Given the description of an element on the screen output the (x, y) to click on. 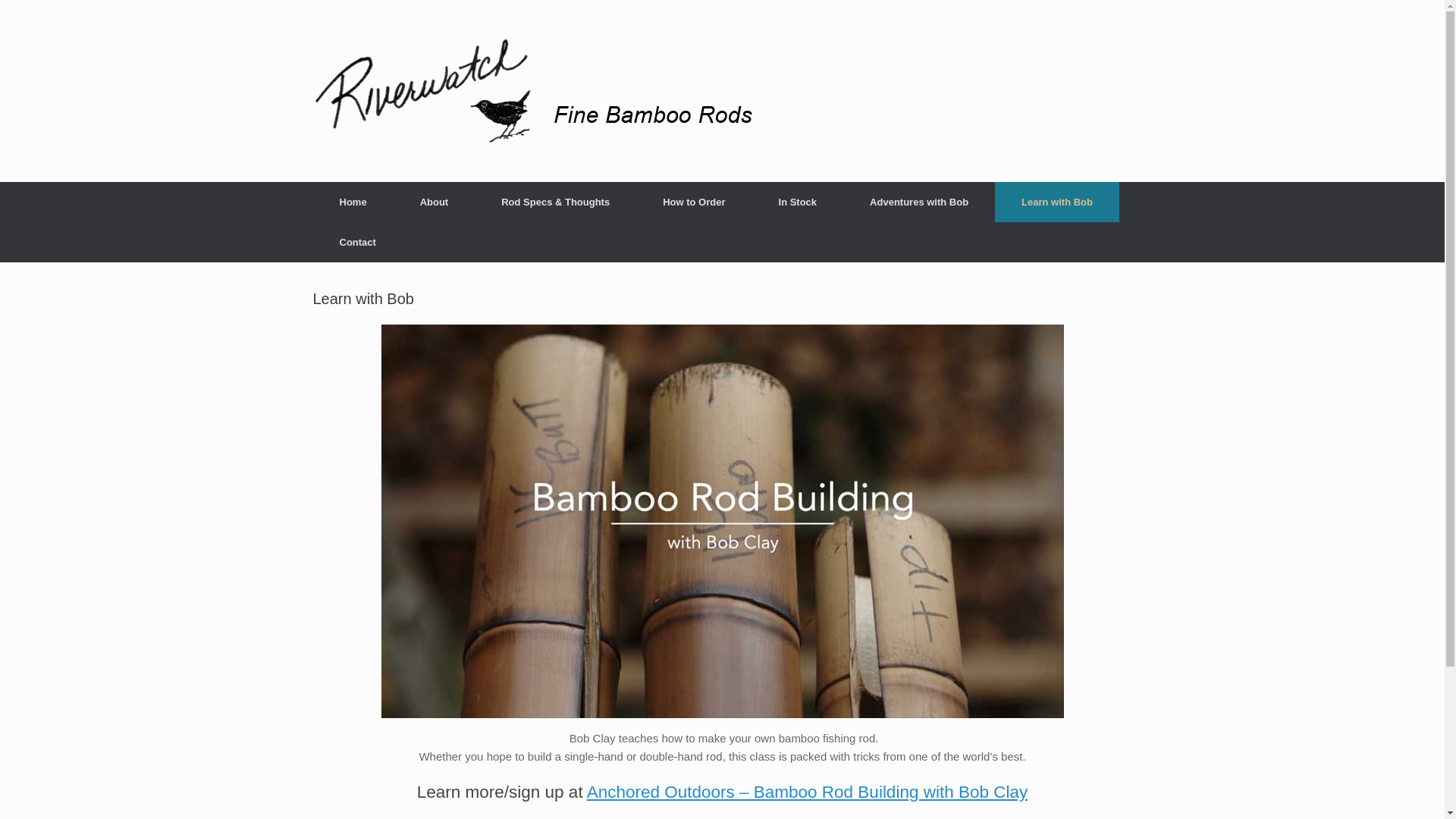
About (434, 201)
Contact (357, 241)
In Stock (798, 201)
Home (353, 201)
Adventures with Bob (918, 201)
How to Order (693, 201)
RiverWatch Rods (540, 91)
Learn with Bob (1056, 201)
